Given the description of an element on the screen output the (x, y) to click on. 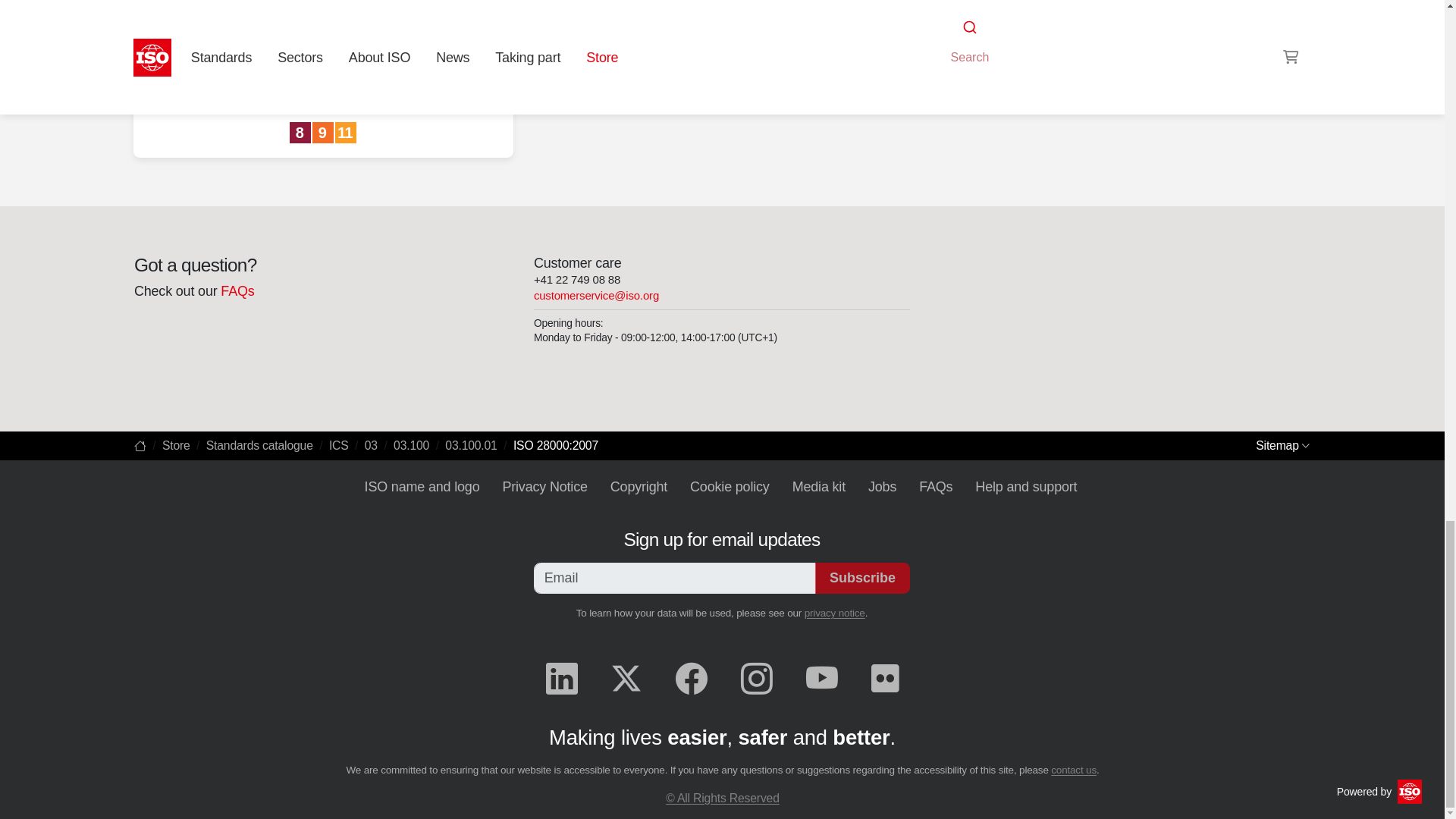
Decent Work and Economic Growth (301, 133)
